Given the description of an element on the screen output the (x, y) to click on. 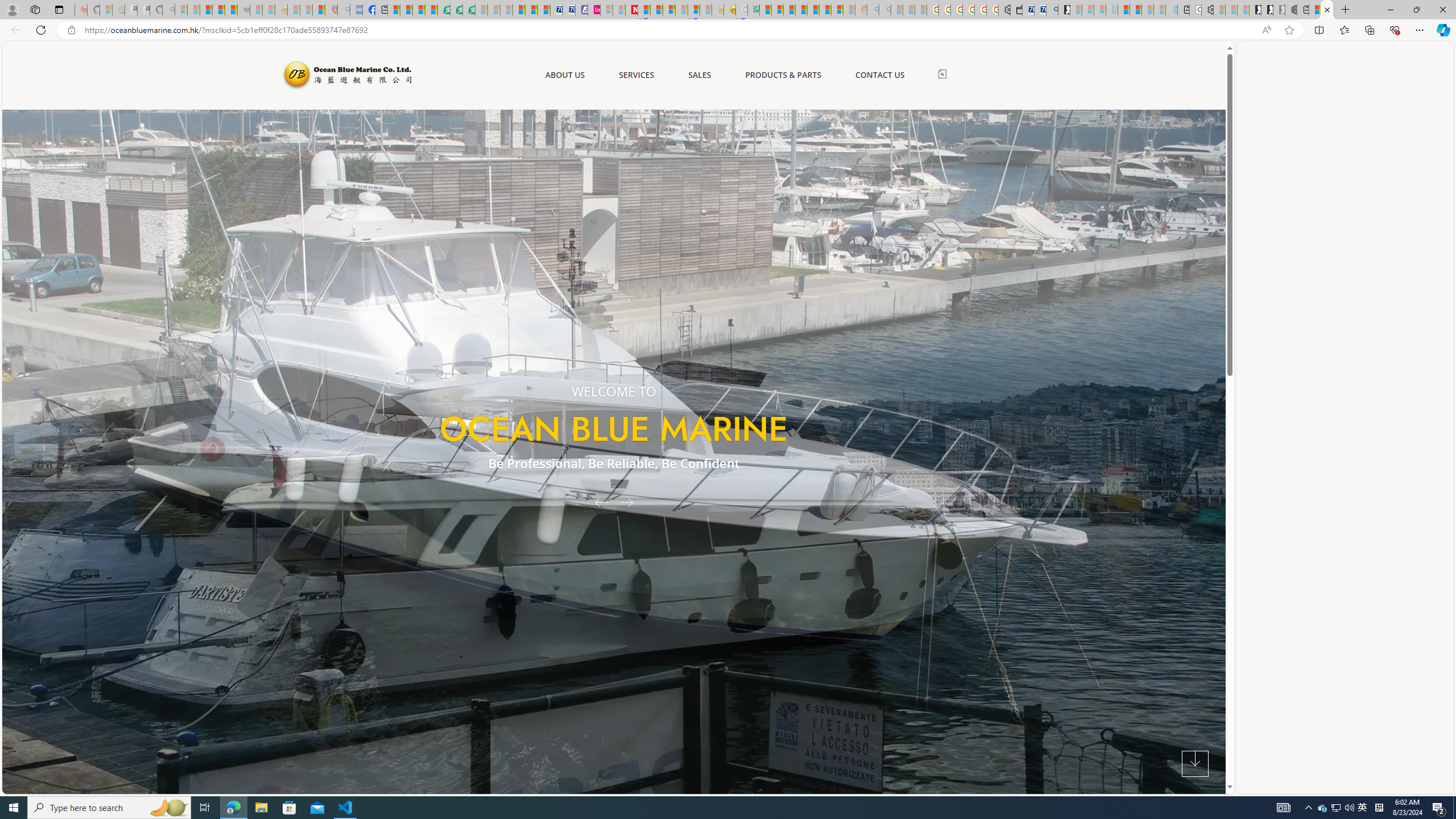
The Weather Channel - MSN (205, 9)
ABOUT US (564, 75)
PRODUCTS & PARTS (783, 74)
Student Loan Update: Forgiveness Program Ends This Month (801, 9)
Terms of Use Agreement (456, 9)
